Given the description of an element on the screen output the (x, y) to click on. 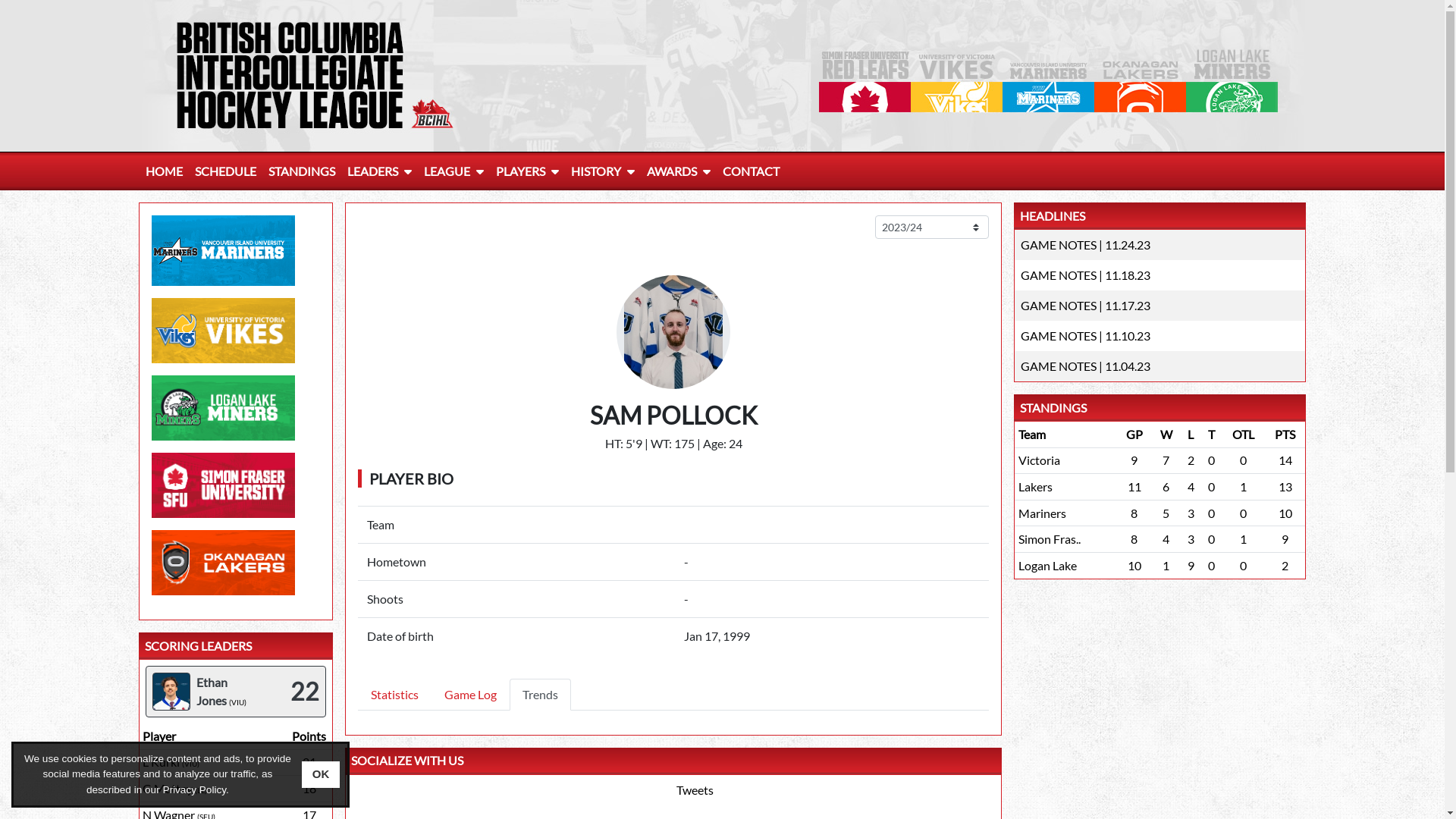
GAME NOTES | 11.17.23 Element type: text (1085, 305)
GAME NOTES | 11.18.23 Element type: text (1085, 274)
Ethan
Jones Element type: text (210, 690)
LEAGUE Element type: text (453, 171)
Mariners Element type: text (1042, 512)
GAME NOTES | 11.10.23 Element type: text (1085, 335)
L Kurki Element type: text (160, 761)
Trends Element type: text (540, 694)
CONTACT Element type: text (749, 171)
GAME NOTES | 11.04.23 Element type: text (1085, 365)
Simon Fras.. Element type: text (1049, 538)
LEADERS Element type: text (379, 171)
SCHEDULE Element type: text (224, 171)
STANDINGS Element type: text (301, 171)
GAME NOTES | 11.24.23 Element type: text (1085, 244)
AWARDS Element type: text (677, 171)
HISTORY Element type: text (602, 171)
PLAYERS Element type: text (526, 171)
Lakers Element type: text (1035, 486)
Game Log Element type: text (470, 694)
HOME Element type: text (163, 171)
Tweets Element type: text (694, 789)
OK Element type: text (320, 774)
Privacy Policy Element type: text (193, 789)
G Mattey Element type: text (167, 788)
Logan Lake Element type: text (1047, 565)
Statistics Element type: text (394, 694)
Victoria Element type: text (1039, 459)
